Given the description of an element on the screen output the (x, y) to click on. 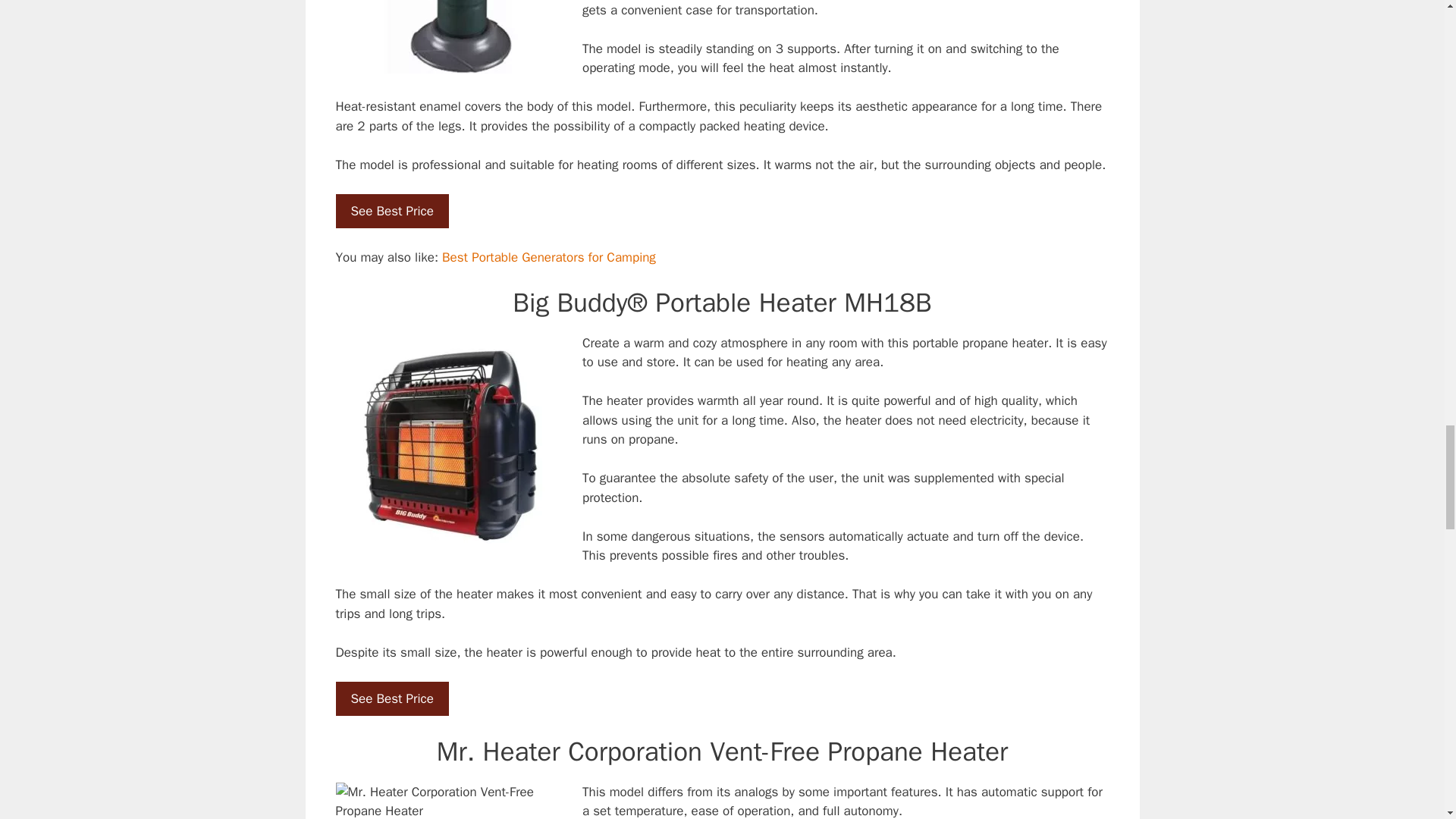
See Best Price (391, 211)
Best Portable Generators for Camping (549, 257)
See Best Price (391, 698)
